Given the description of an element on the screen output the (x, y) to click on. 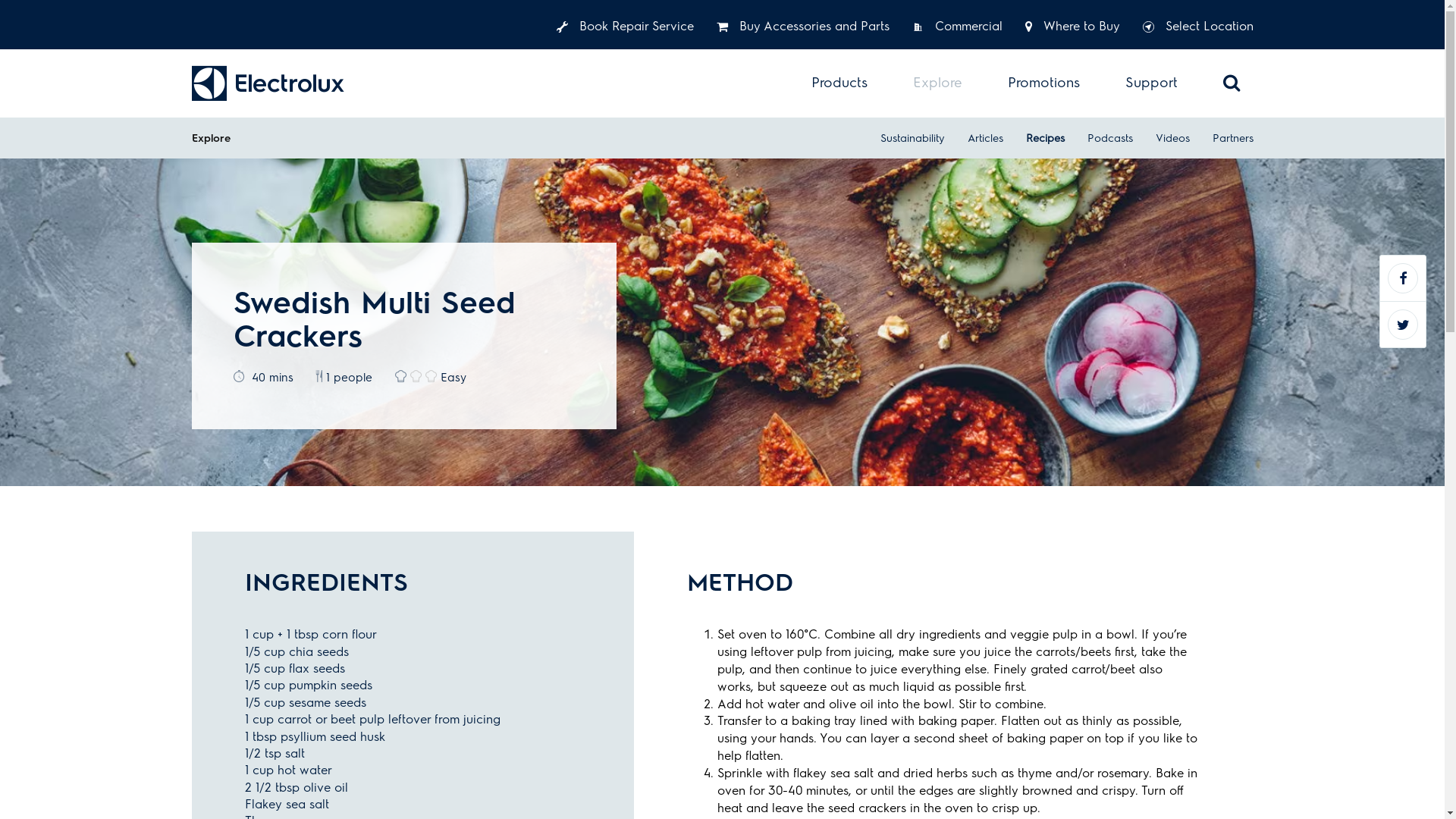
Book Repair Service Element type: text (624, 26)
Explore Element type: text (937, 83)
Podcasts Element type: text (1109, 137)
Select Location Element type: text (1197, 26)
Promotions Element type: text (1043, 83)
Articles Element type: text (985, 137)
Videos Element type: text (1172, 137)
Commercial Element type: text (956, 26)
Where to Buy Element type: text (1072, 26)
Explore Element type: text (210, 137)
Buy Accessories and Parts Element type: text (801, 26)
Recipes Element type: text (1044, 137)
Support Element type: text (1151, 83)
Sustainability Element type: text (911, 137)
  Element type: text (269, 83)
Partners Element type: text (1231, 137)
